Given the description of an element on the screen output the (x, y) to click on. 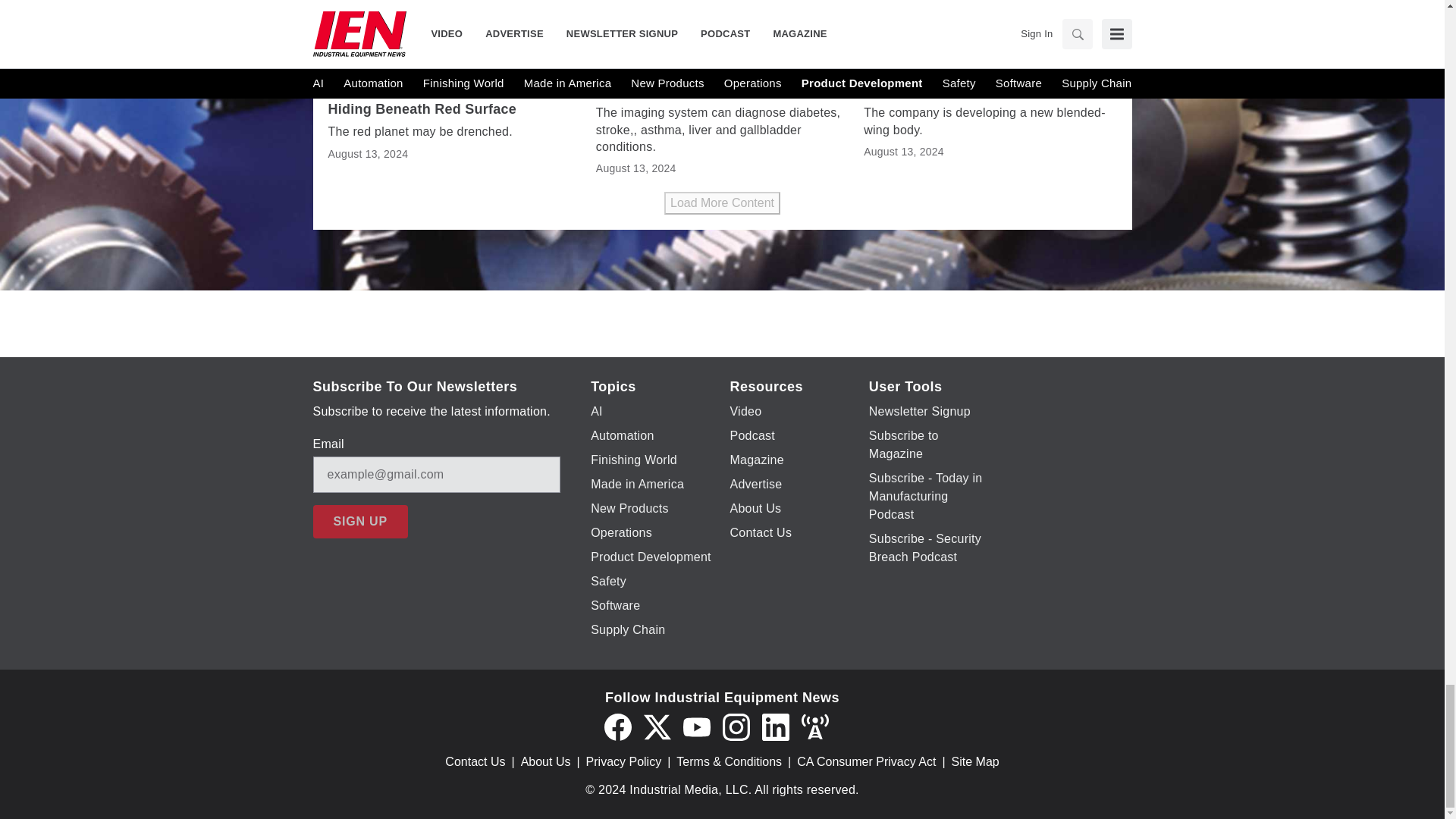
Instagram icon (735, 727)
Twitter X icon (656, 727)
YouTube icon (696, 727)
Facebook icon (617, 727)
LinkedIn icon (775, 727)
